Given the description of an element on the screen output the (x, y) to click on. 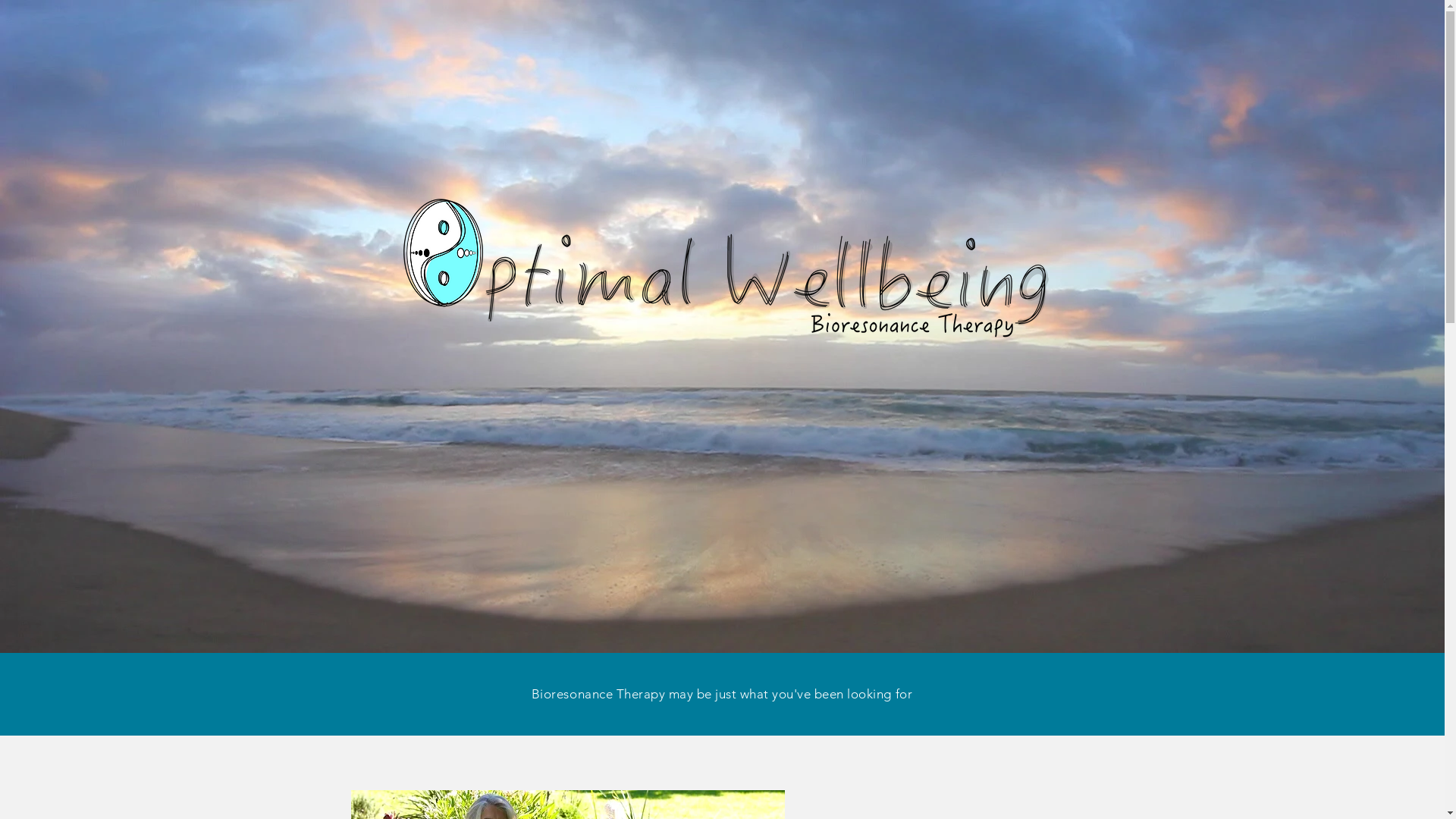
Opwell Logo w_Font #2.jpg Element type: hover (722, 263)
